Given the description of an element on the screen output the (x, y) to click on. 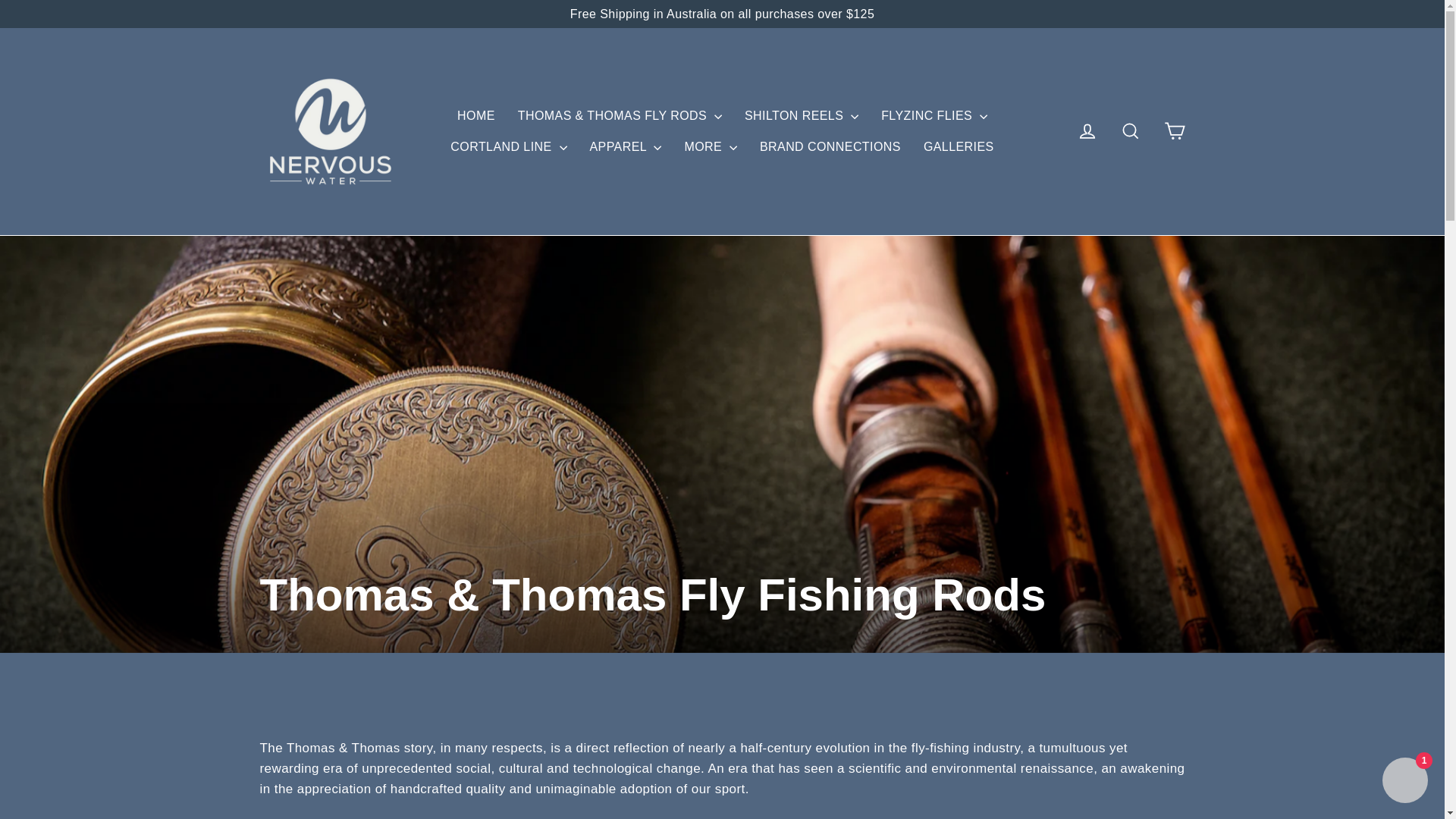
Shopify online store chat (1404, 781)
